Given the description of an element on the screen output the (x, y) to click on. 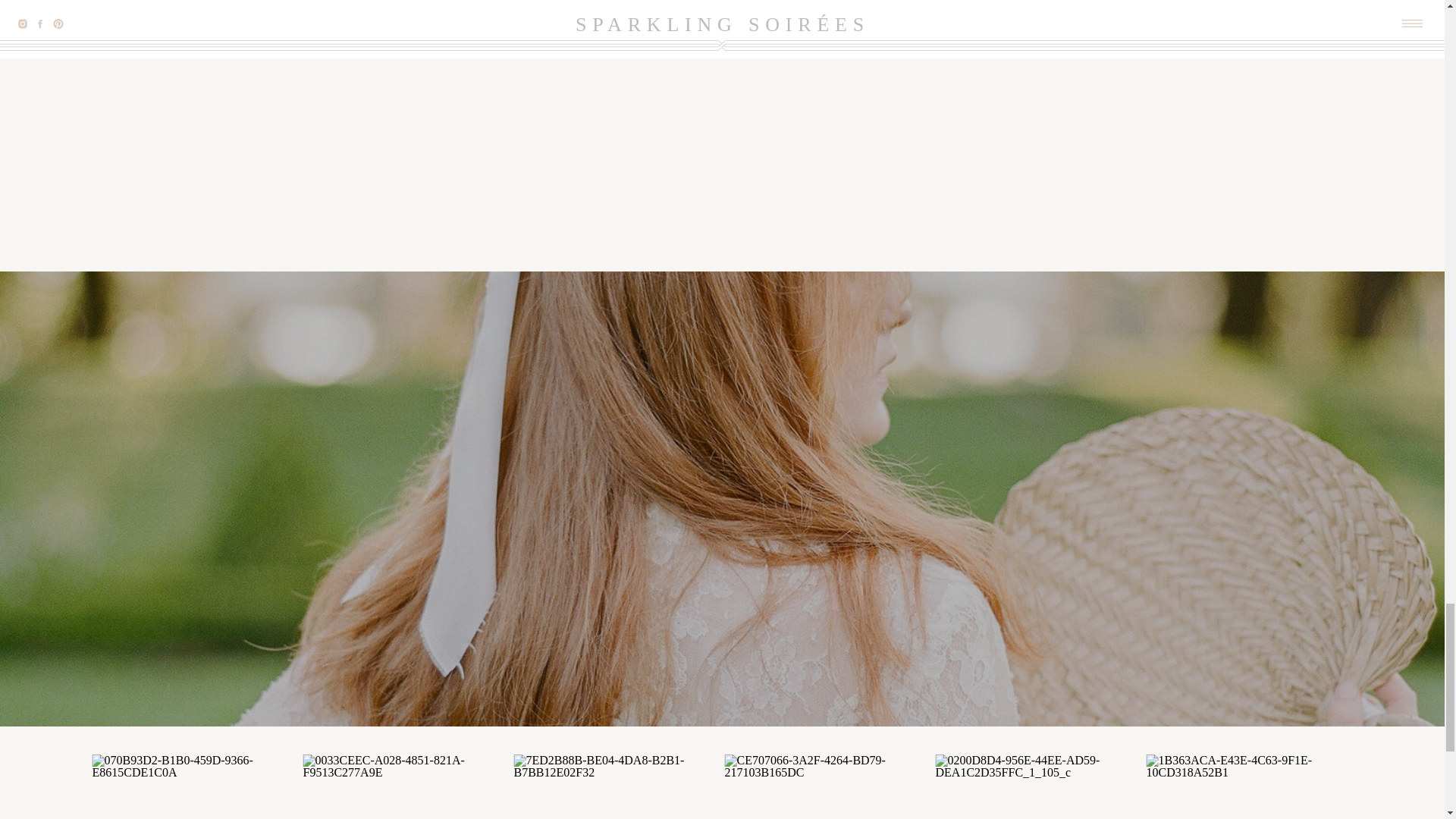
CE707066-3A2F-4264-BD79-217103B165DC (828, 786)
070B93D2-B1B0-459D-9366-E8615CDE1C0A (195, 786)
0033CEEC-A028-4851-821A-F9513C277A9E (405, 786)
1B363ACA-E43E-4C63-9F1E-10CD318A52B1 (1249, 786)
7ED2B88B-BE04-4DA8-B2B1-B7BB12E02F32 (616, 786)
